Given the description of an element on the screen output the (x, y) to click on. 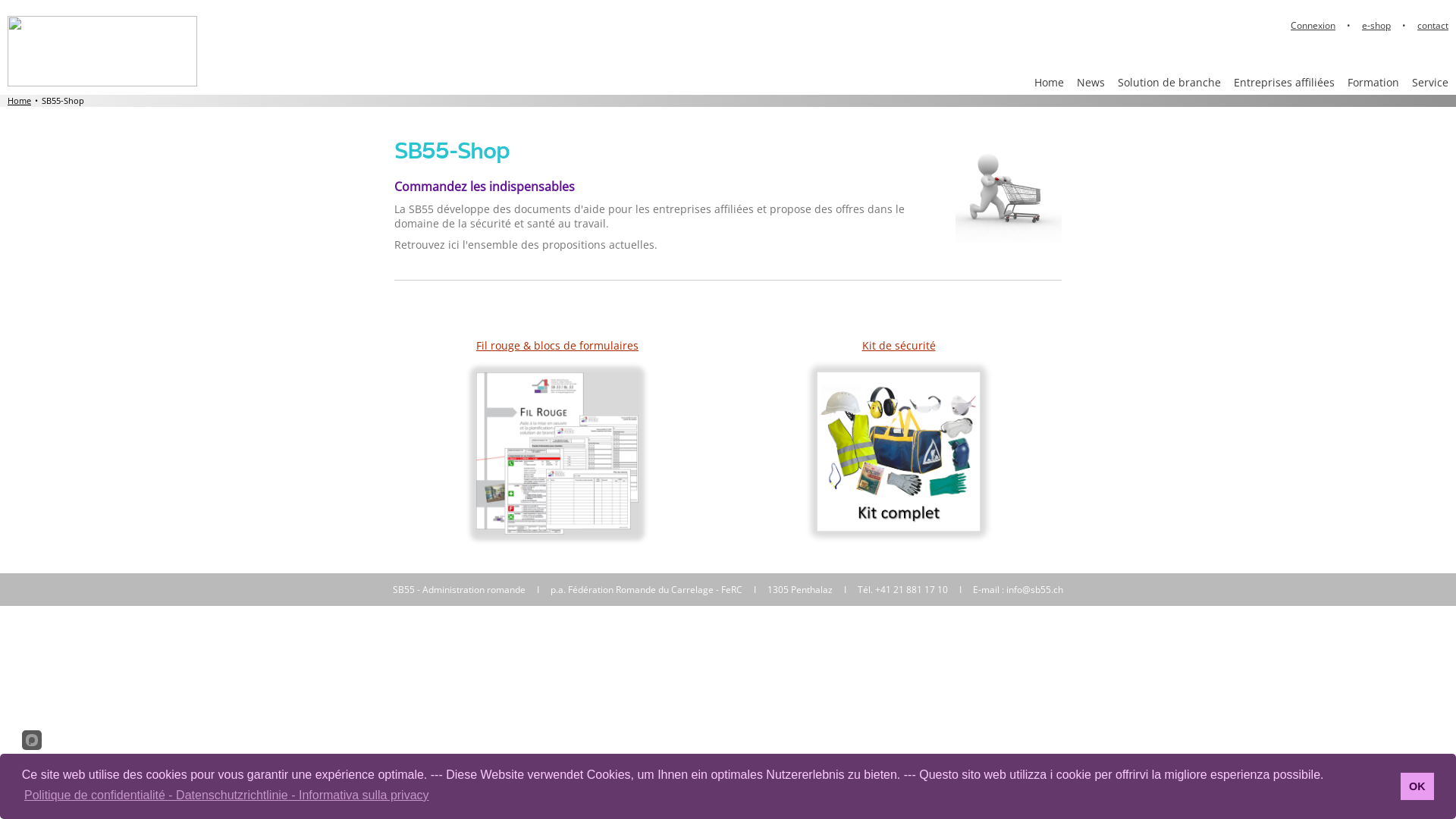
Home Element type: text (19, 100)
OK Element type: text (1417, 786)
Connexion Element type: text (1312, 24)
Home Element type: text (1049, 82)
Solution de branche Element type: text (1169, 82)
Formation Element type: text (1373, 82)
contact Element type: text (1432, 24)
e-shop Element type: text (1375, 24)
News Element type: text (1090, 82)
Fil rouge & blocs de formulaires Element type: text (557, 345)
Service Element type: text (1430, 82)
